Given the description of an element on the screen output the (x, y) to click on. 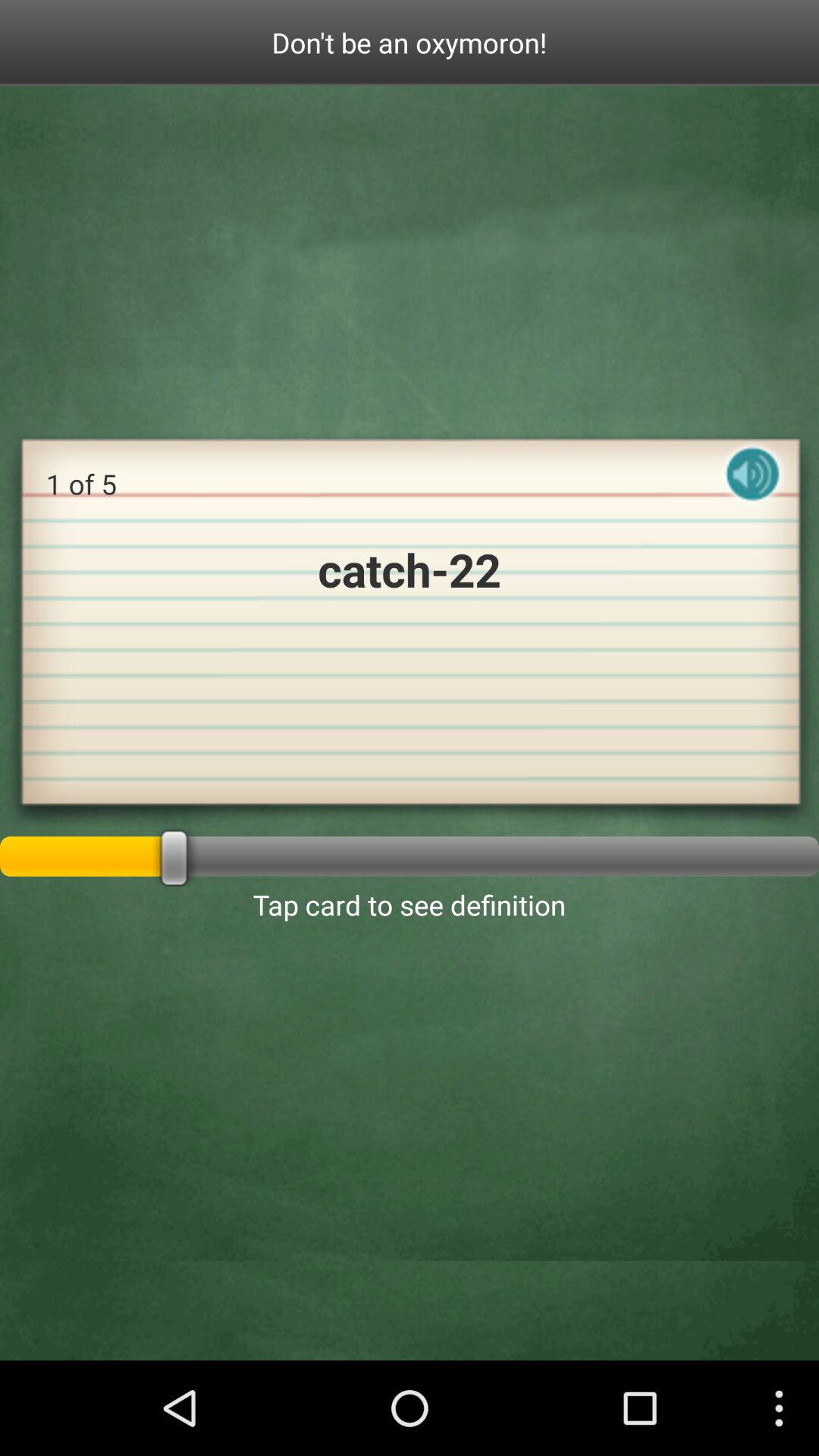
select icon to the right of catch-22 item (752, 486)
